Given the description of an element on the screen output the (x, y) to click on. 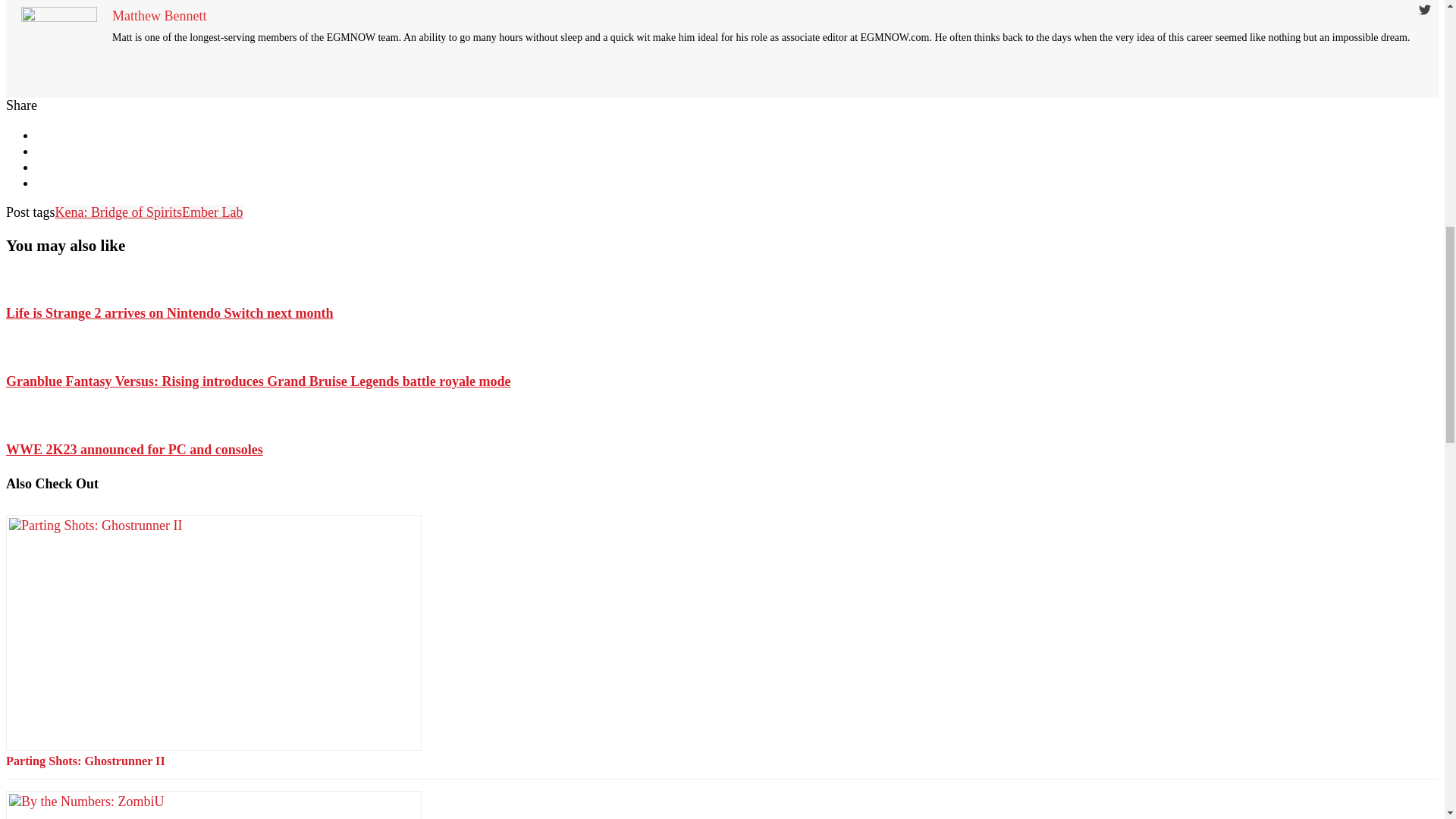
Ember Lab (212, 212)
Matthew Bennett (159, 15)
WWE 2K23 announced for PC and consoles (134, 449)
Kena: Bridge of Spirits (118, 212)
Life is Strange 2 arrives on Nintendo Switch next month (169, 313)
